Given the description of an element on the screen output the (x, y) to click on. 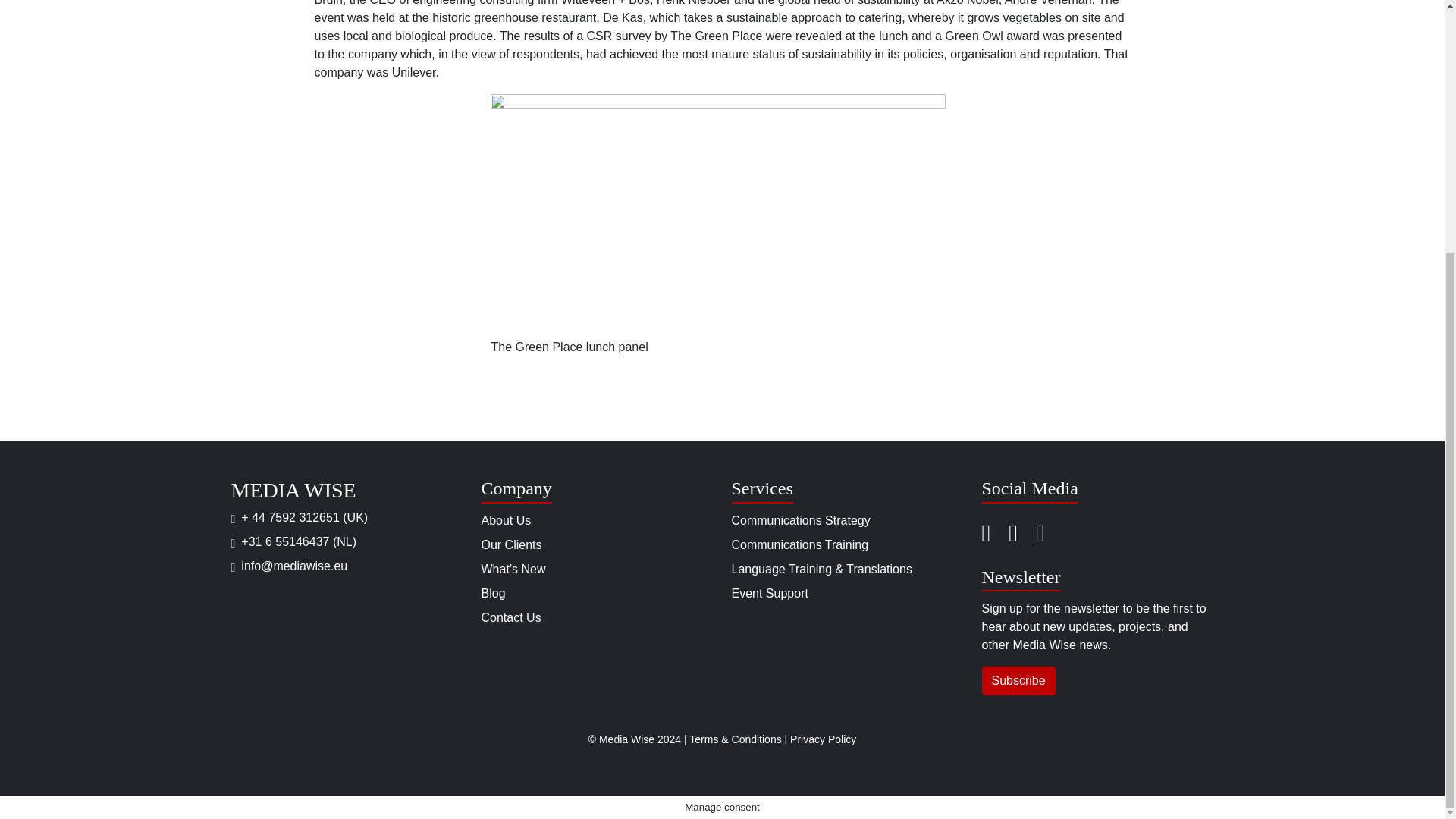
About Us (505, 520)
Communications Strategy (799, 520)
GreenPlaceLunch copy (717, 216)
Subscribe (1017, 680)
Our Clients (510, 544)
Blog (492, 593)
Contact Us (510, 617)
Communications Training (798, 544)
Event Support (769, 593)
Privacy Policy (823, 739)
